Given the description of an element on the screen output the (x, y) to click on. 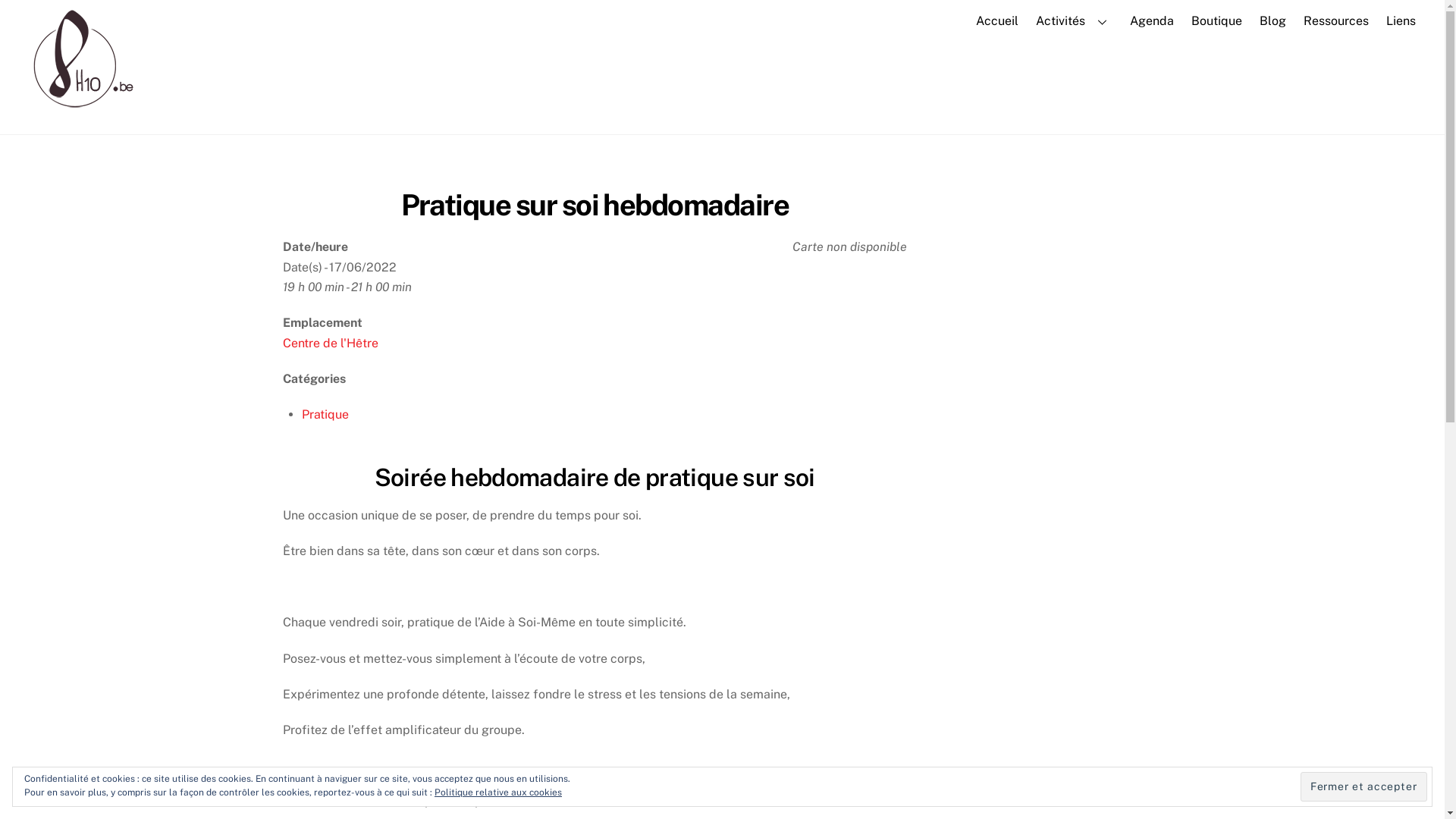
Pratique Element type: text (324, 414)
Boutique Element type: text (1215, 20)
Pratique sur soi hebdomadaire Element type: text (594, 205)
Agenda Element type: text (1151, 20)
Fermer et accepter Element type: text (1363, 786)
Huit heures dix Element type: hover (77, 113)
Accueil Element type: text (996, 20)
logo-chocolat Element type: hover (77, 64)
Ressources Element type: text (1336, 20)
Blog Element type: text (1272, 20)
Politique relative aux cookies Element type: text (497, 792)
Liens Element type: text (1401, 20)
